Given the description of an element on the screen output the (x, y) to click on. 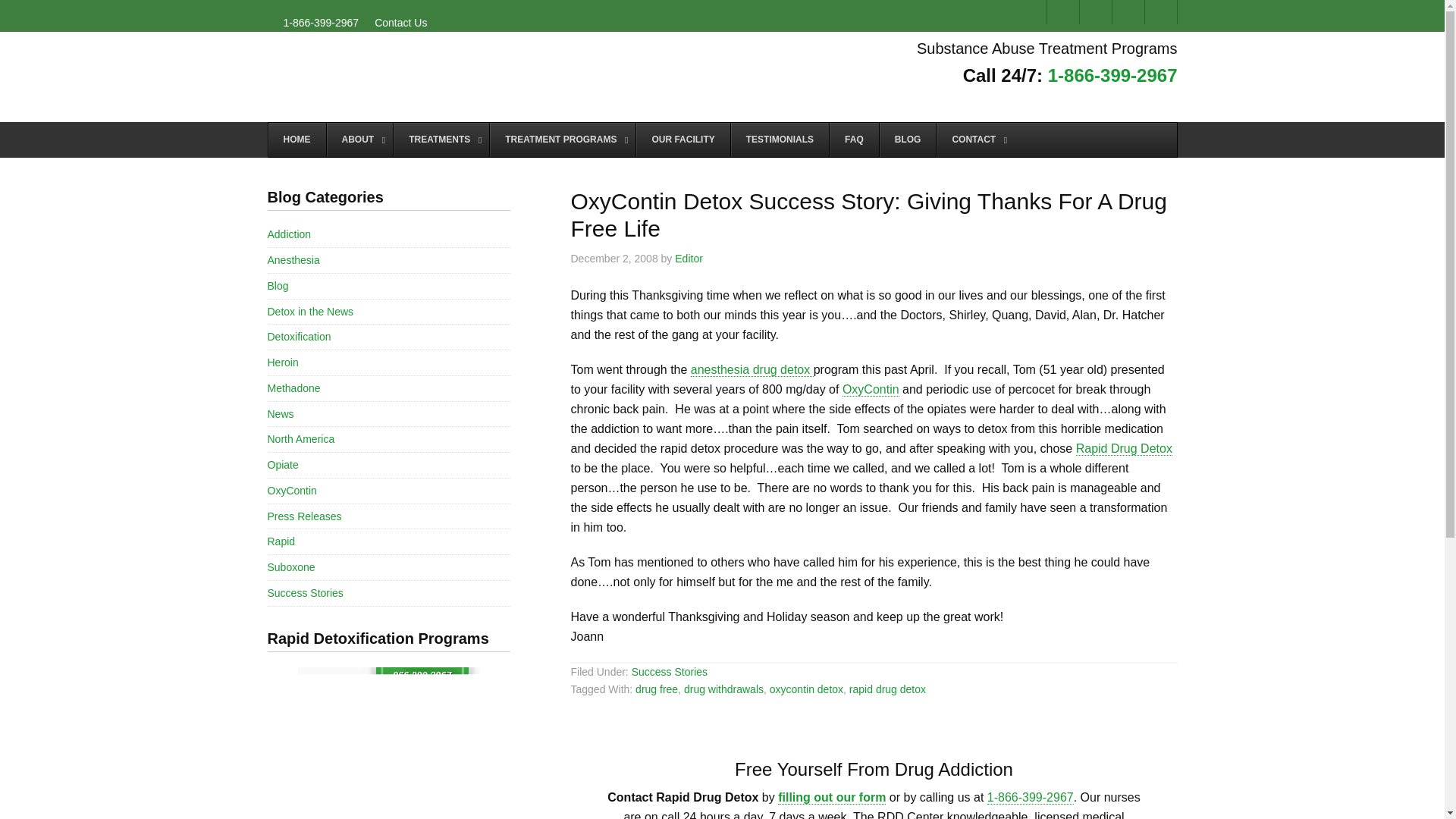
BLOG (907, 140)
1-866-399-2967 (1112, 75)
TREATMENTS (441, 140)
FAQ (853, 140)
TESTIMONIALS (779, 140)
Rapid Drug Detox (418, 76)
HOME (296, 140)
Contact Us (831, 797)
ABOUT (359, 140)
